Given the description of an element on the screen output the (x, y) to click on. 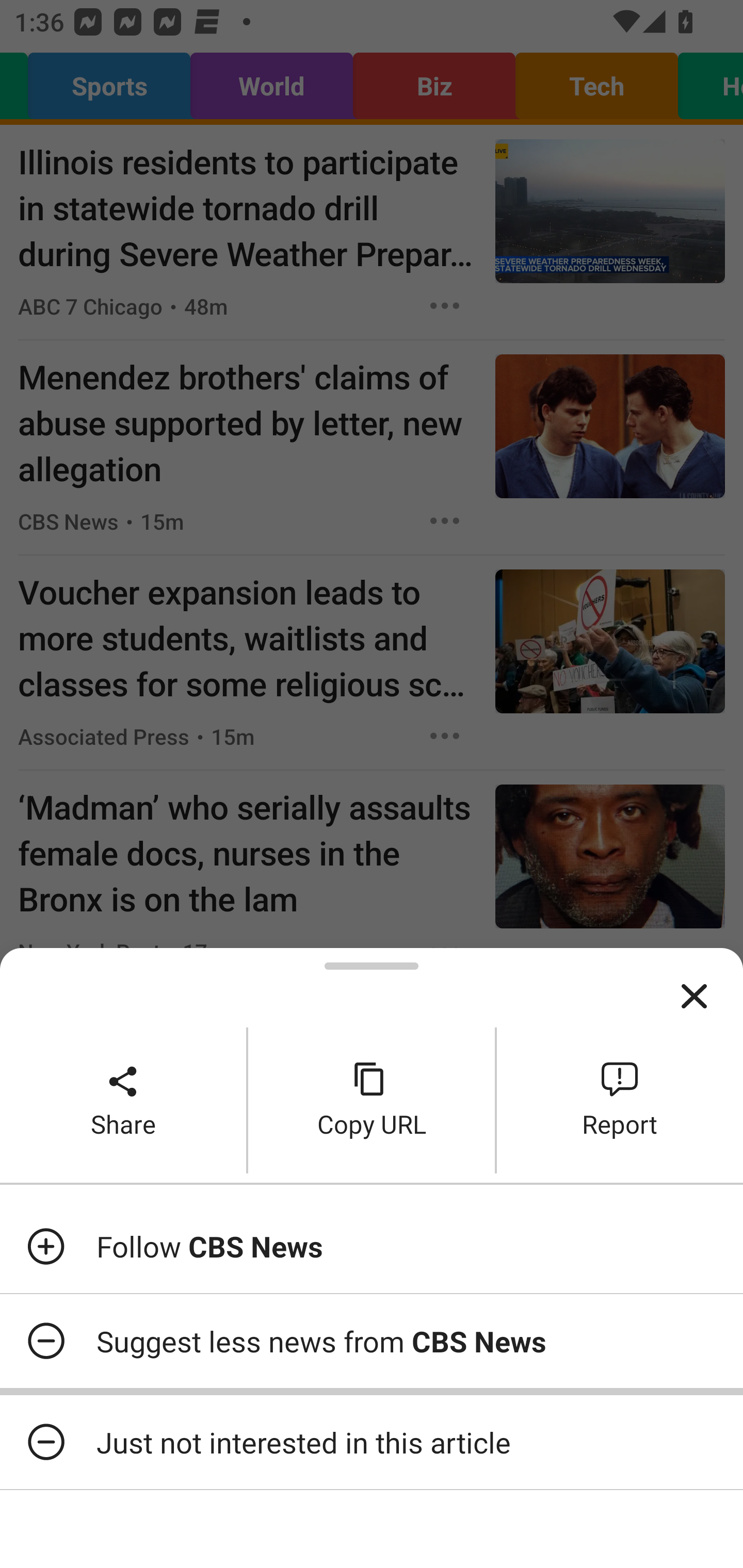
Close (694, 996)
Share (122, 1099)
Copy URL (371, 1099)
Report (620, 1099)
Follow CBS News (371, 1246)
Suggest less news from CBS News (371, 1340)
Just not interested in this article (371, 1442)
